Given the description of an element on the screen output the (x, y) to click on. 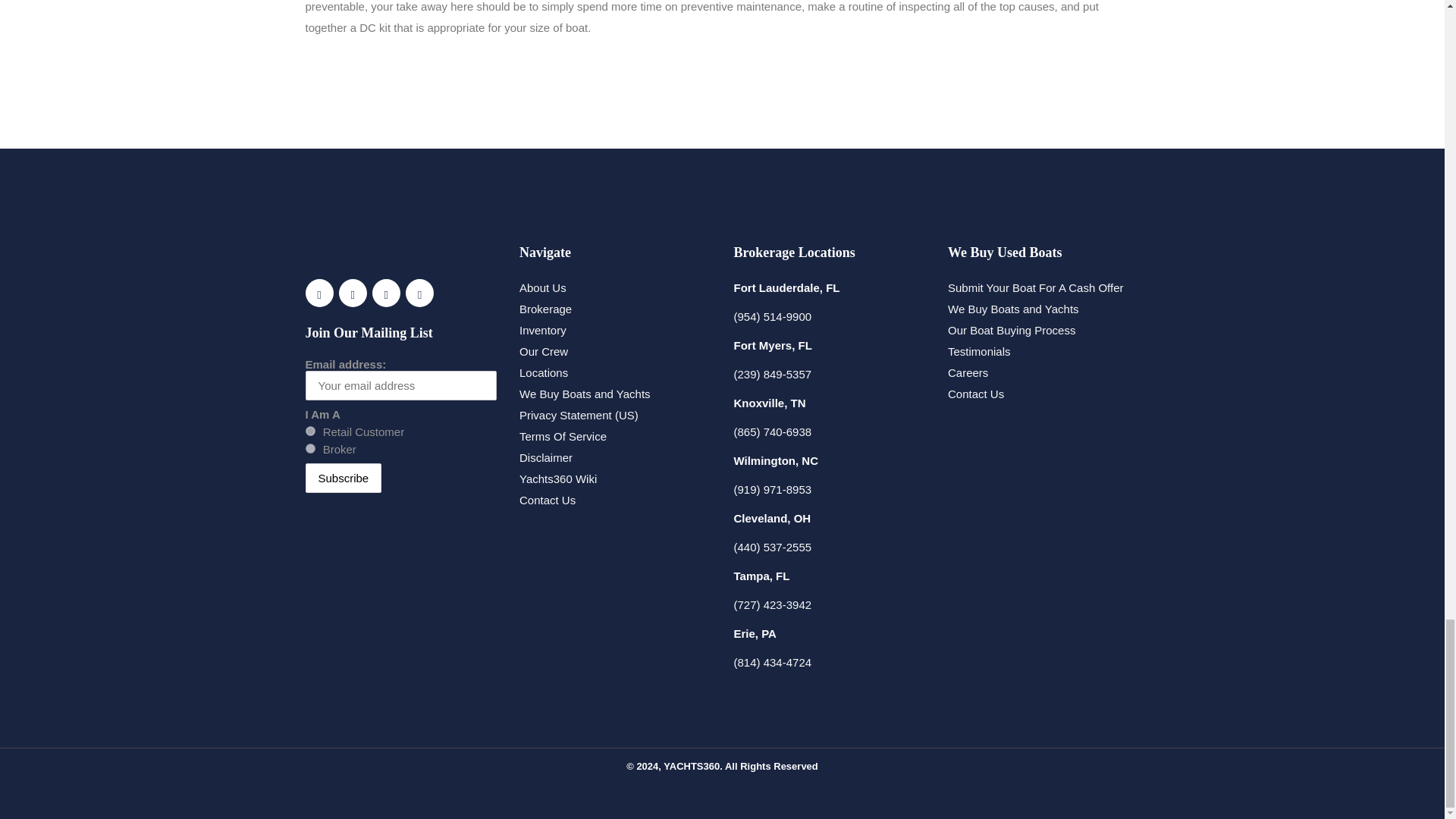
7aa15a4976 (309, 430)
Subscribe (342, 478)
489570a2d3 (309, 448)
